Given the description of an element on the screen output the (x, y) to click on. 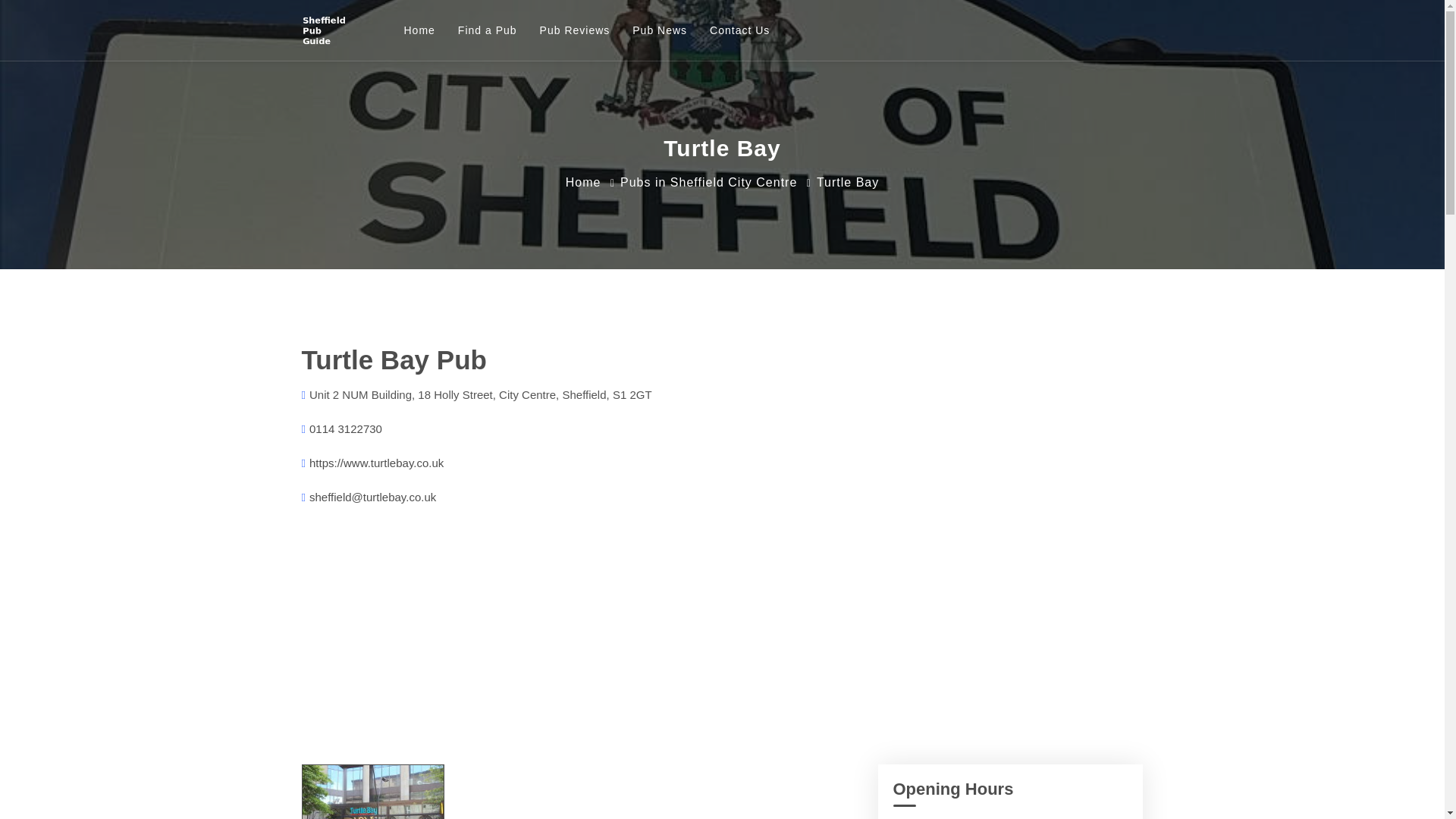
Pub News (659, 30)
0114 3122730 (344, 428)
Contact Us (739, 30)
Home (583, 182)
Find a Pub (487, 30)
Pubs in Sheffield City Centre (708, 182)
Pub Reviews (574, 30)
